Given the description of an element on the screen output the (x, y) to click on. 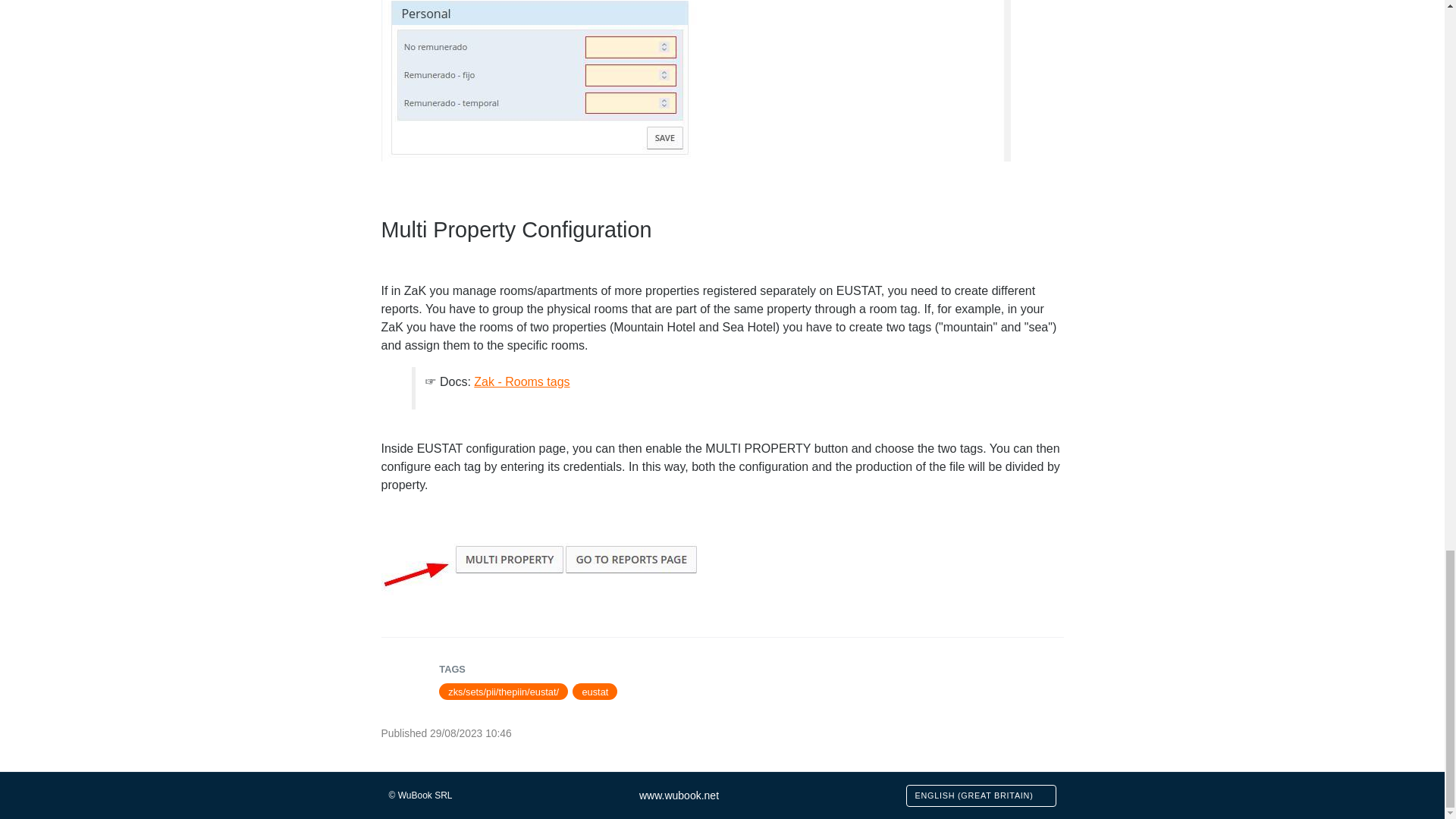
www.wubook.net (678, 795)
eustat (594, 691)
Zak - Rooms tags (521, 381)
